Given the description of an element on the screen output the (x, y) to click on. 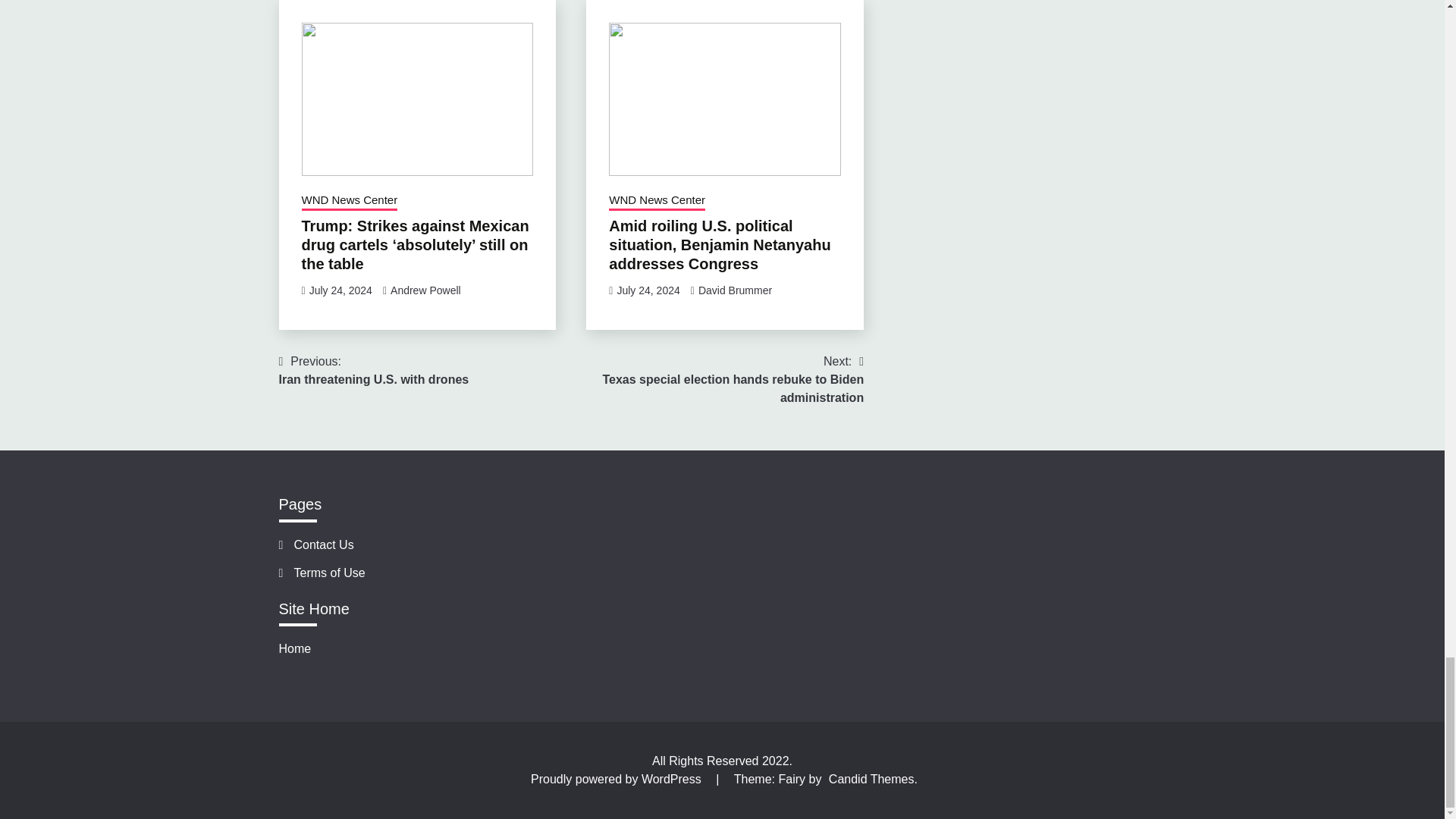
David Brummer (734, 290)
Andrew Powell (373, 370)
WND News Center (425, 290)
July 24, 2024 (349, 201)
July 24, 2024 (647, 290)
WND News Center (340, 290)
